Given the description of an element on the screen output the (x, y) to click on. 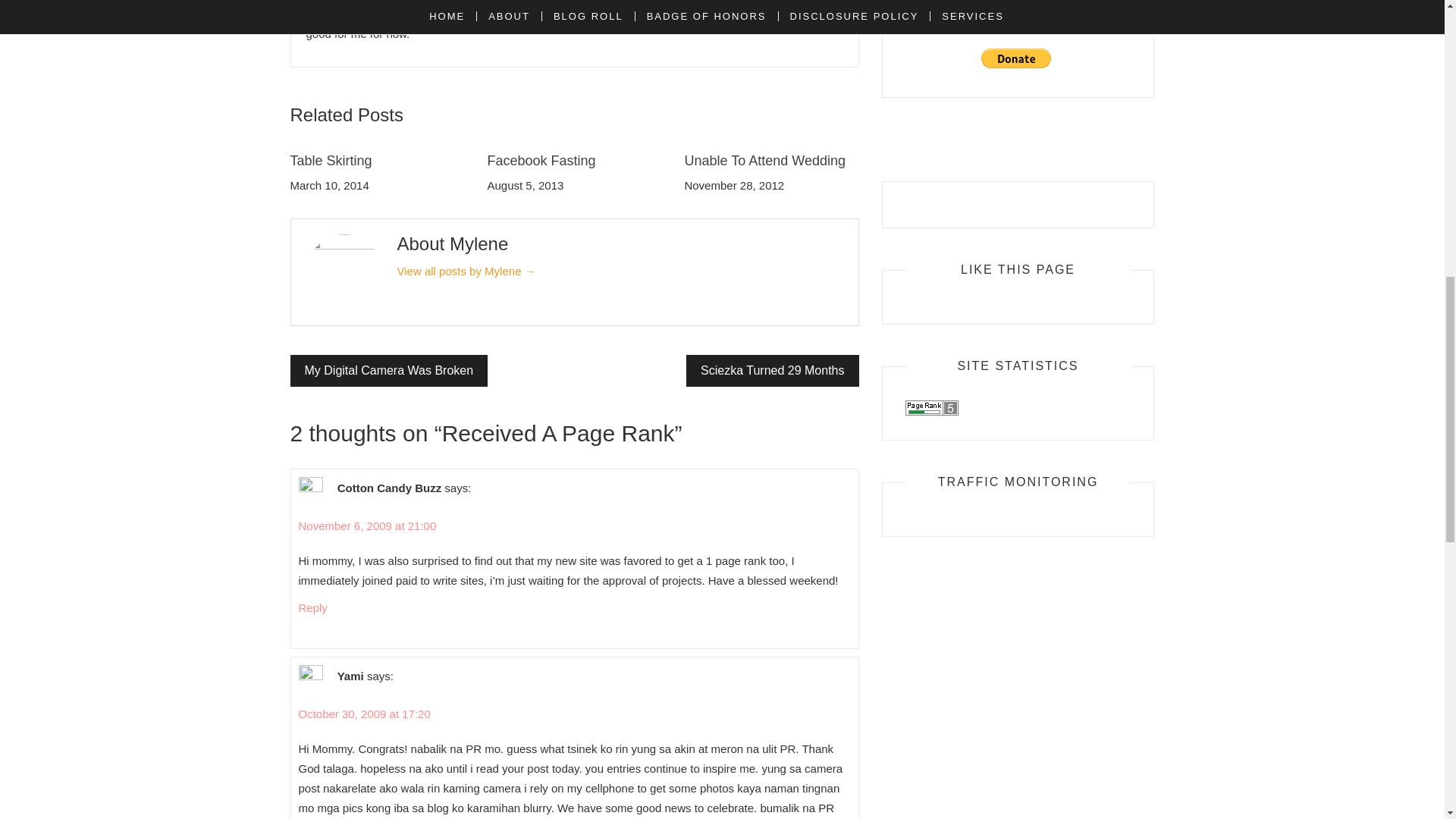
My Digital Camera Was Broken (388, 370)
Table Skirting (330, 160)
Unable To Attend Wedding (764, 160)
November 6, 2009 at 21:00 (367, 525)
Page Ranking Tool (931, 406)
Reply (312, 607)
Sciezka Turned 29 Months (772, 370)
Facebook Fasting (540, 160)
October 30, 2009 at 17:20 (364, 713)
